Given the description of an element on the screen output the (x, y) to click on. 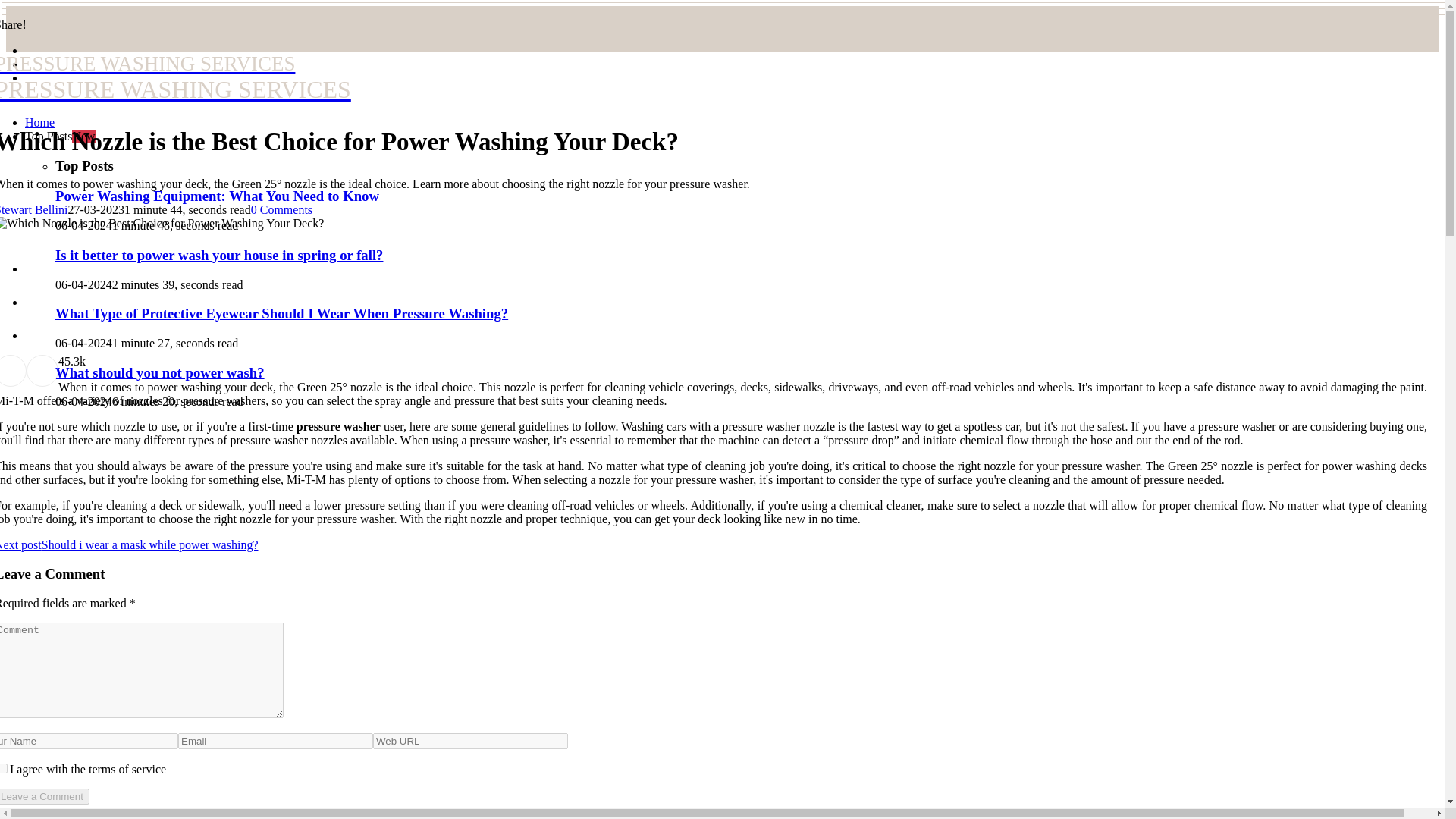
Power Washing Equipment: What You Need to Know (216, 195)
What should you not power wash? (159, 372)
Next postShould i wear a mask while power washing? (129, 544)
0 Comments (281, 209)
Stewart Bellini (33, 209)
Top PostsNew (60, 135)
Posts by Stewart Bellini (33, 209)
Leave a Comment (44, 796)
